Given the description of an element on the screen output the (x, y) to click on. 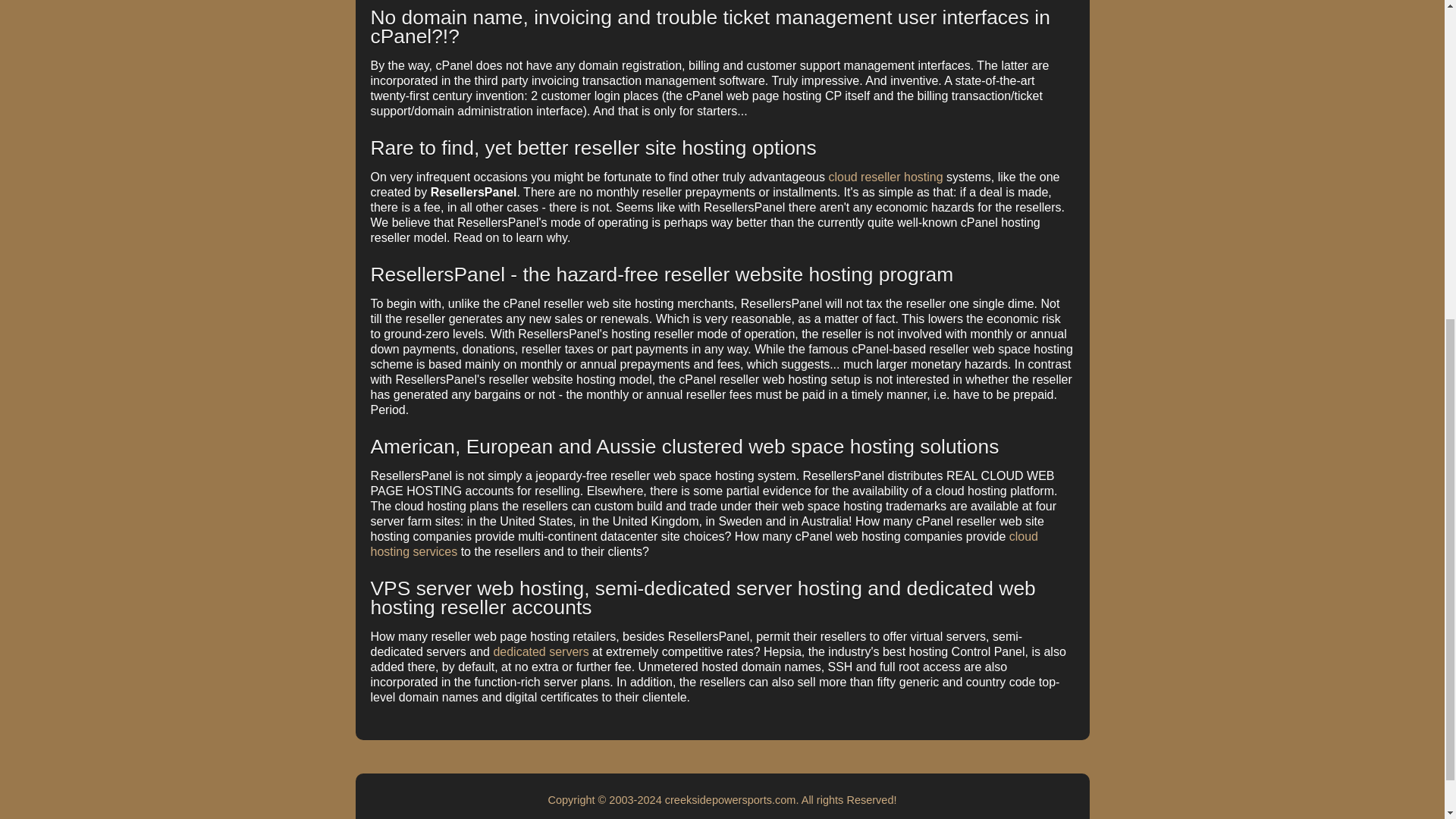
dedicated servers (540, 651)
cloud reseller hosting (885, 176)
cloud hosting services (702, 543)
creeksidepowersports.com (730, 799)
